Given the description of an element on the screen output the (x, y) to click on. 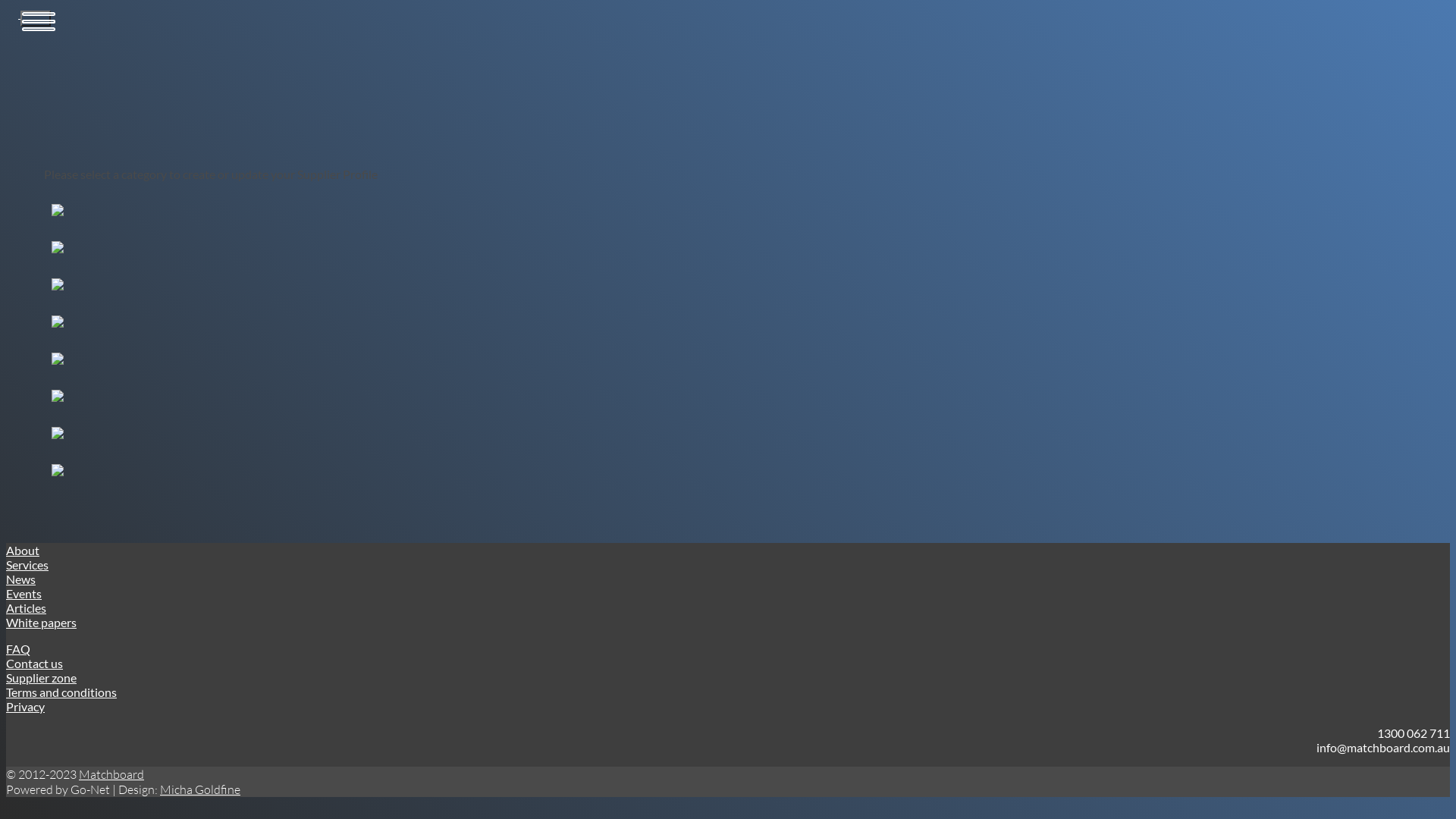
About Element type: text (22, 549)
Articles Element type: text (26, 607)
Supplier zone Element type: text (41, 677)
News Element type: text (20, 578)
White papers Element type: text (41, 622)
Micha Goldfine Element type: text (200, 789)
Events Element type: text (23, 593)
Contact us Element type: text (34, 662)
Terms and conditions Element type: text (61, 691)
Services Element type: text (27, 564)
FAQ Element type: text (18, 648)
Matchboard Element type: text (111, 773)
Privacy Element type: text (25, 706)
